Given the description of an element on the screen output the (x, y) to click on. 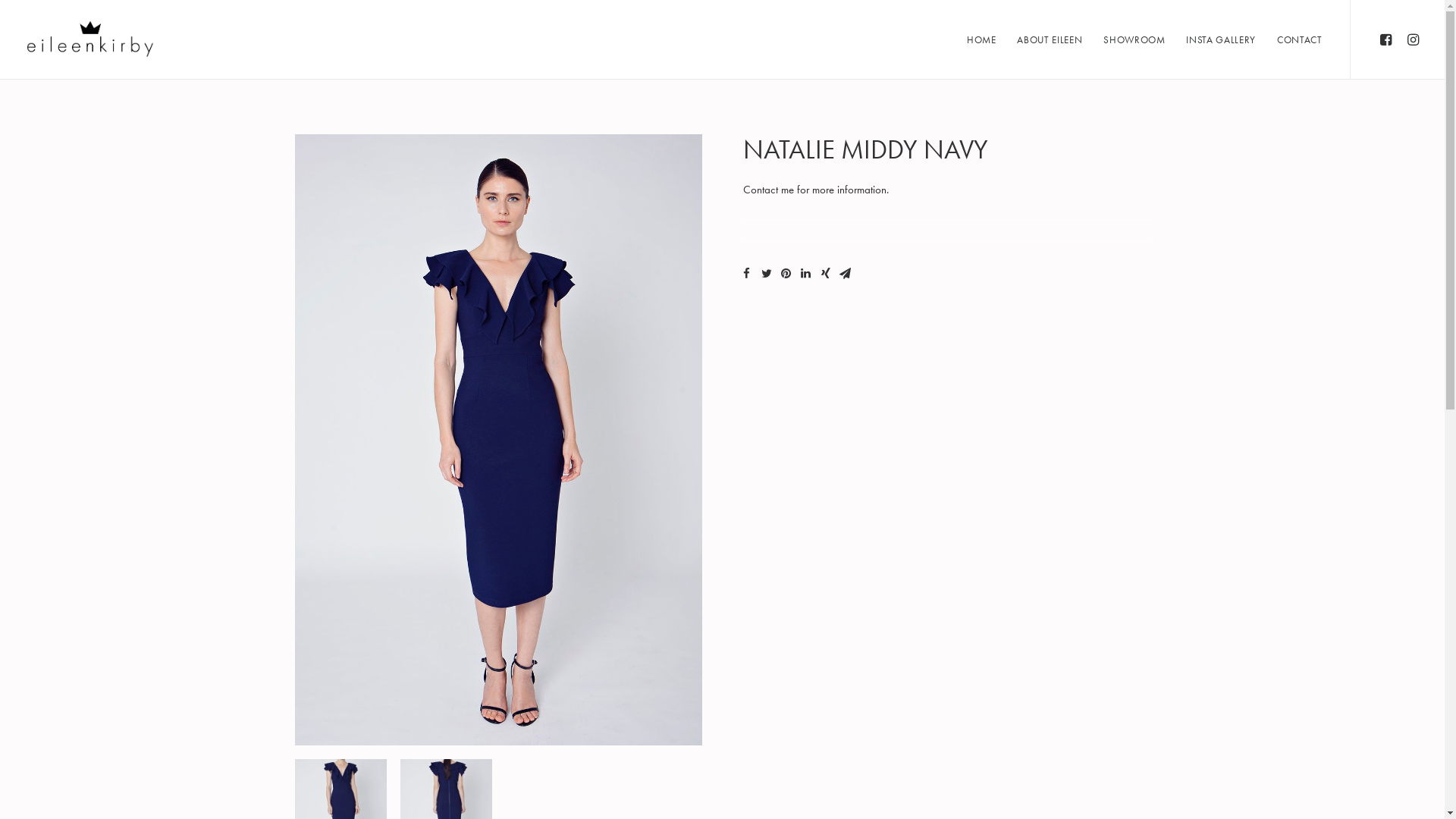
Contact me for more information. Element type: text (815, 189)
HOME Element type: text (981, 39)
INSTA GALLERY Element type: text (1220, 39)
CONTACT Element type: text (1294, 39)
SHOWROOM Element type: text (1133, 39)
ABOUT EILEEN Element type: text (1049, 39)
